Given the description of an element on the screen output the (x, y) to click on. 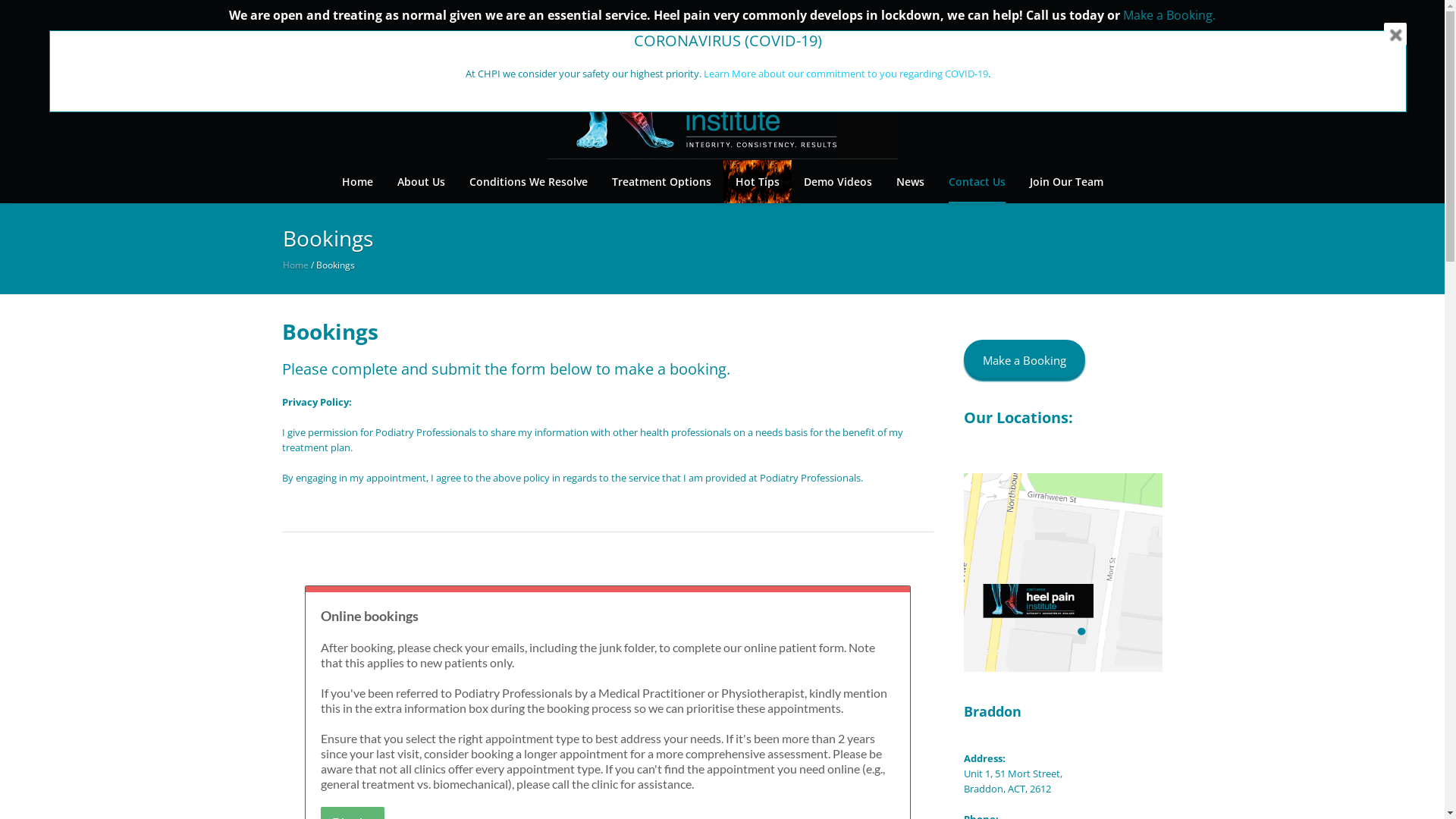
Close Element type: hover (1394, 33)
Hot Tips Element type: text (757, 181)
Conditions We Resolve Element type: text (527, 181)
Make a Booking Element type: text (1024, 358)
About Us Element type: text (421, 181)
Join Our Team Element type: text (1066, 181)
Treatment Options Element type: text (660, 181)
Home Element type: text (356, 181)
News Element type: text (910, 181)
Demo Videos Element type: text (837, 181)
Contact Us Element type: text (975, 181)
Make a Booking. Element type: text (1169, 14)
Learn More about our commitment to you regarding COVID-19 Element type: text (845, 73)
Home Element type: text (294, 263)
